Given the description of an element on the screen output the (x, y) to click on. 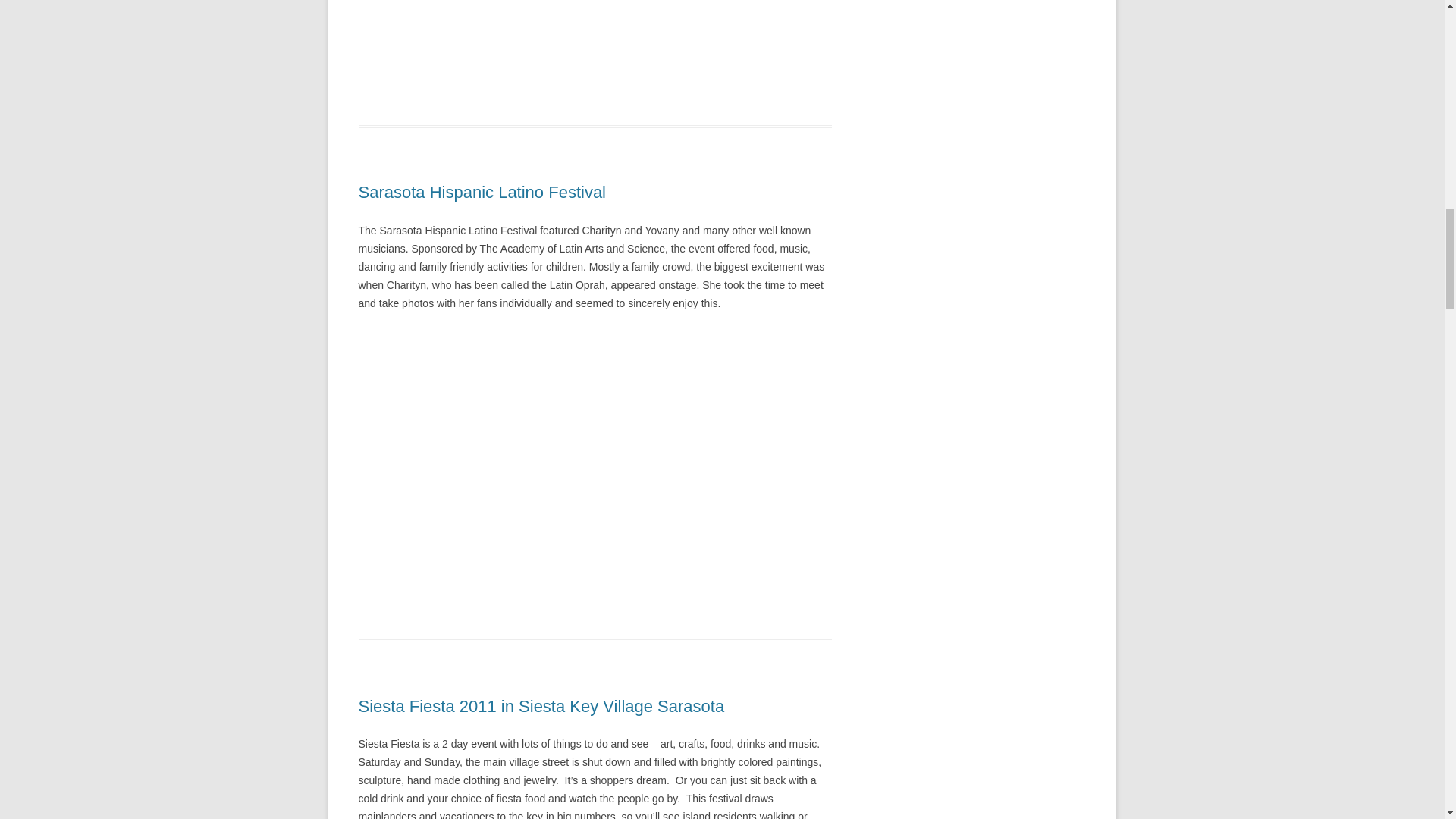
Permalink to Sarasota Hispanic Latino Festival (481, 191)
Sarasota Hispanic Latino Festival (481, 191)
